Given the description of an element on the screen output the (x, y) to click on. 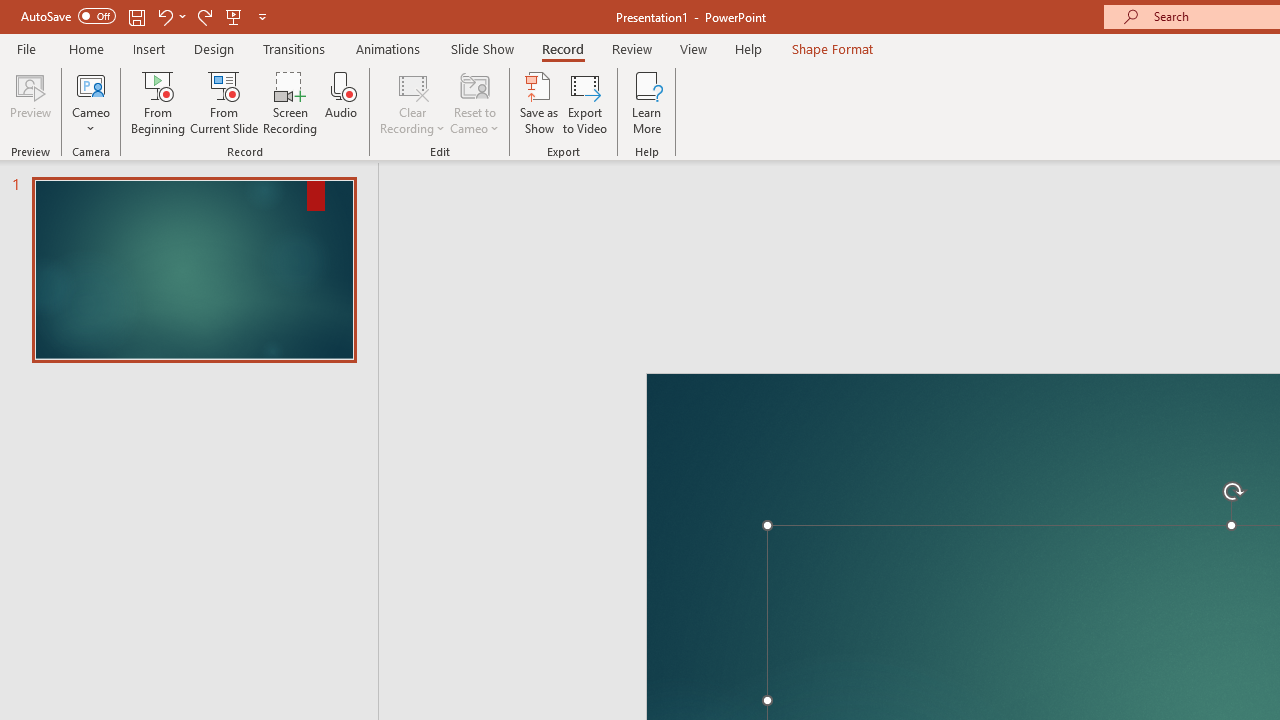
Clear Recording (412, 102)
Reset to Cameo (474, 102)
From Beginning... (158, 102)
Screen Recording (290, 102)
Learn More (646, 102)
From Current Slide... (224, 102)
